Given the description of an element on the screen output the (x, y) to click on. 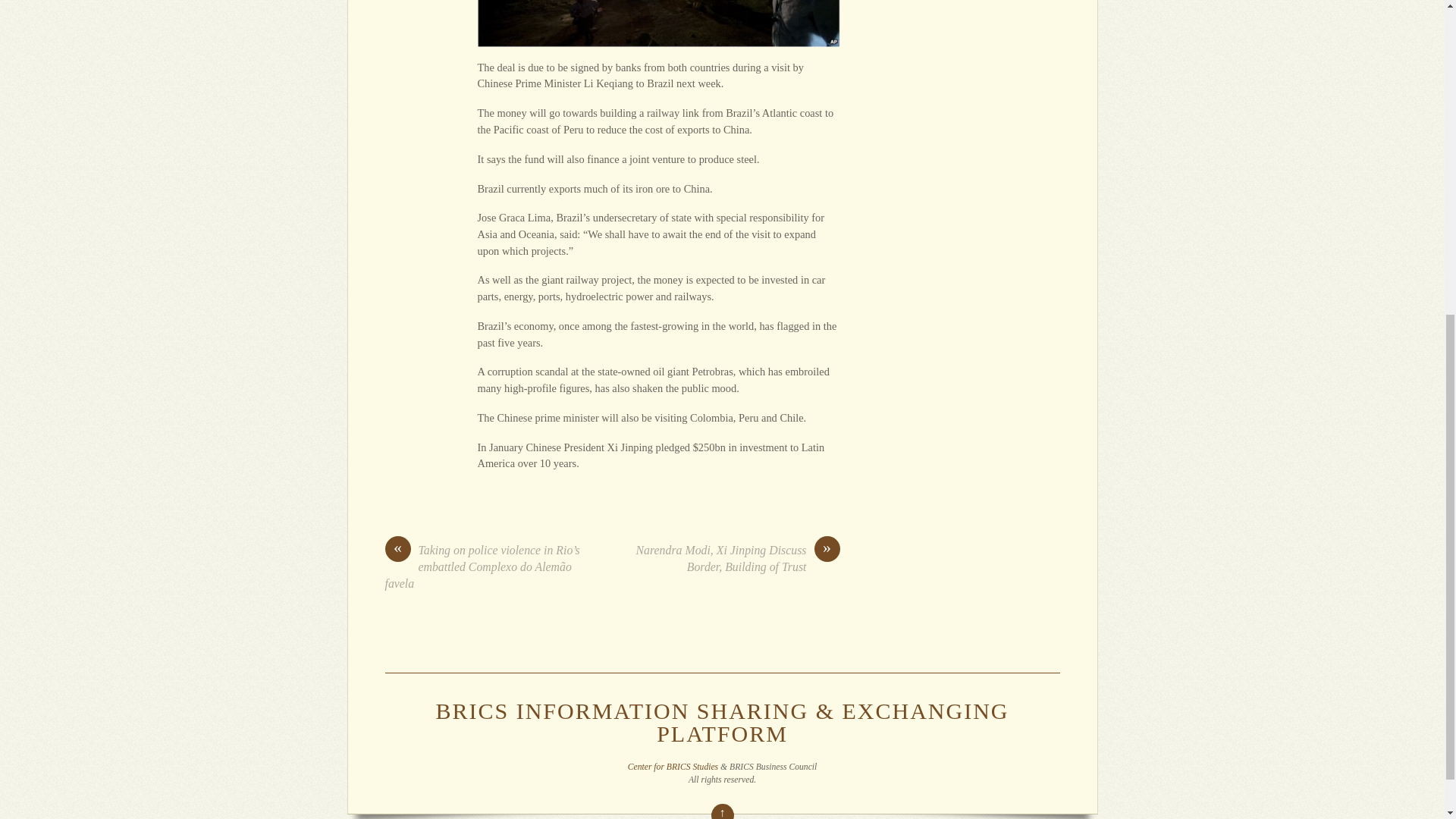
Center for BRICS Studies (672, 767)
